Given the description of an element on the screen output the (x, y) to click on. 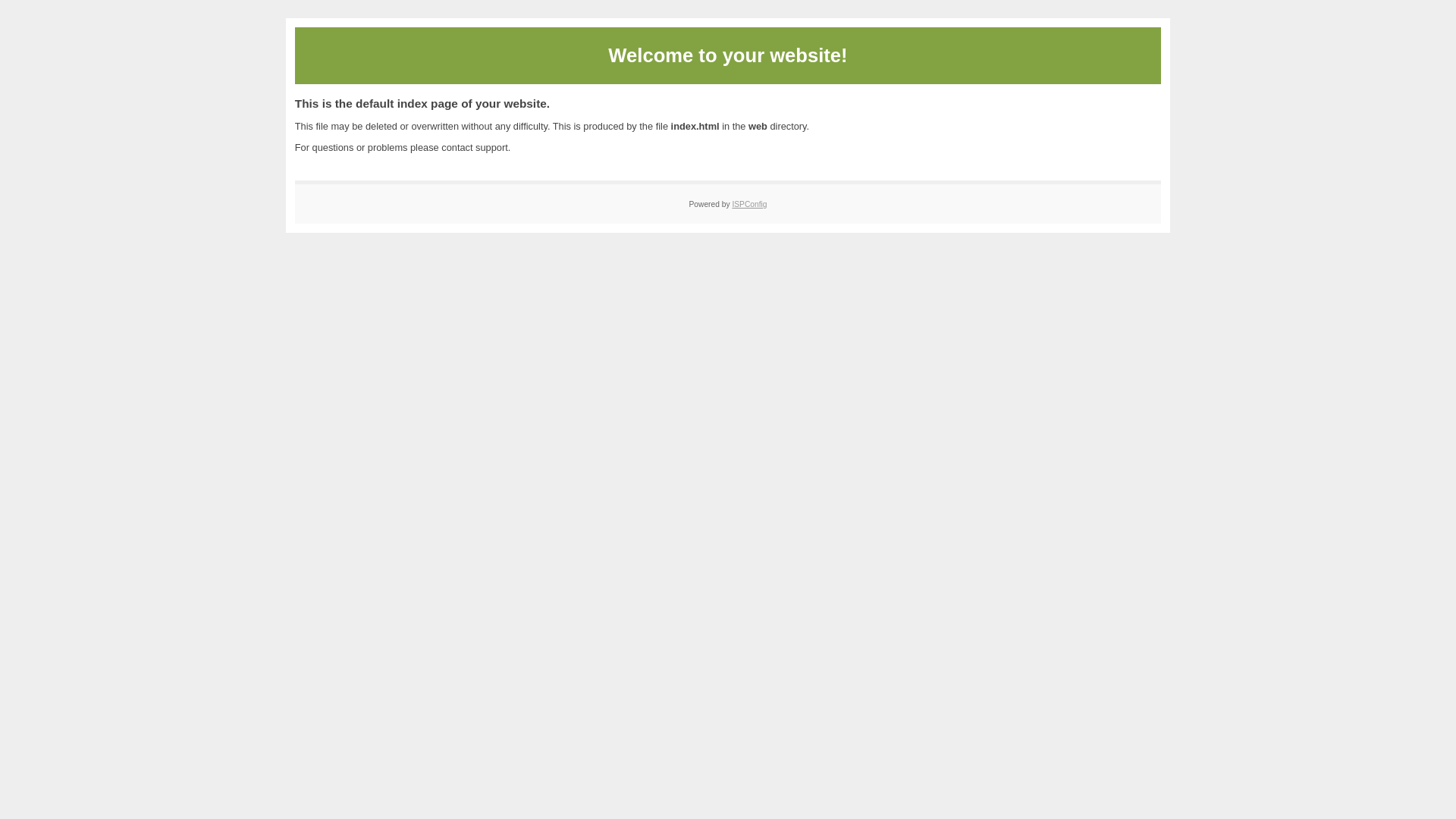
ISPConfig Element type: text (748, 204)
